Given the description of an element on the screen output the (x, y) to click on. 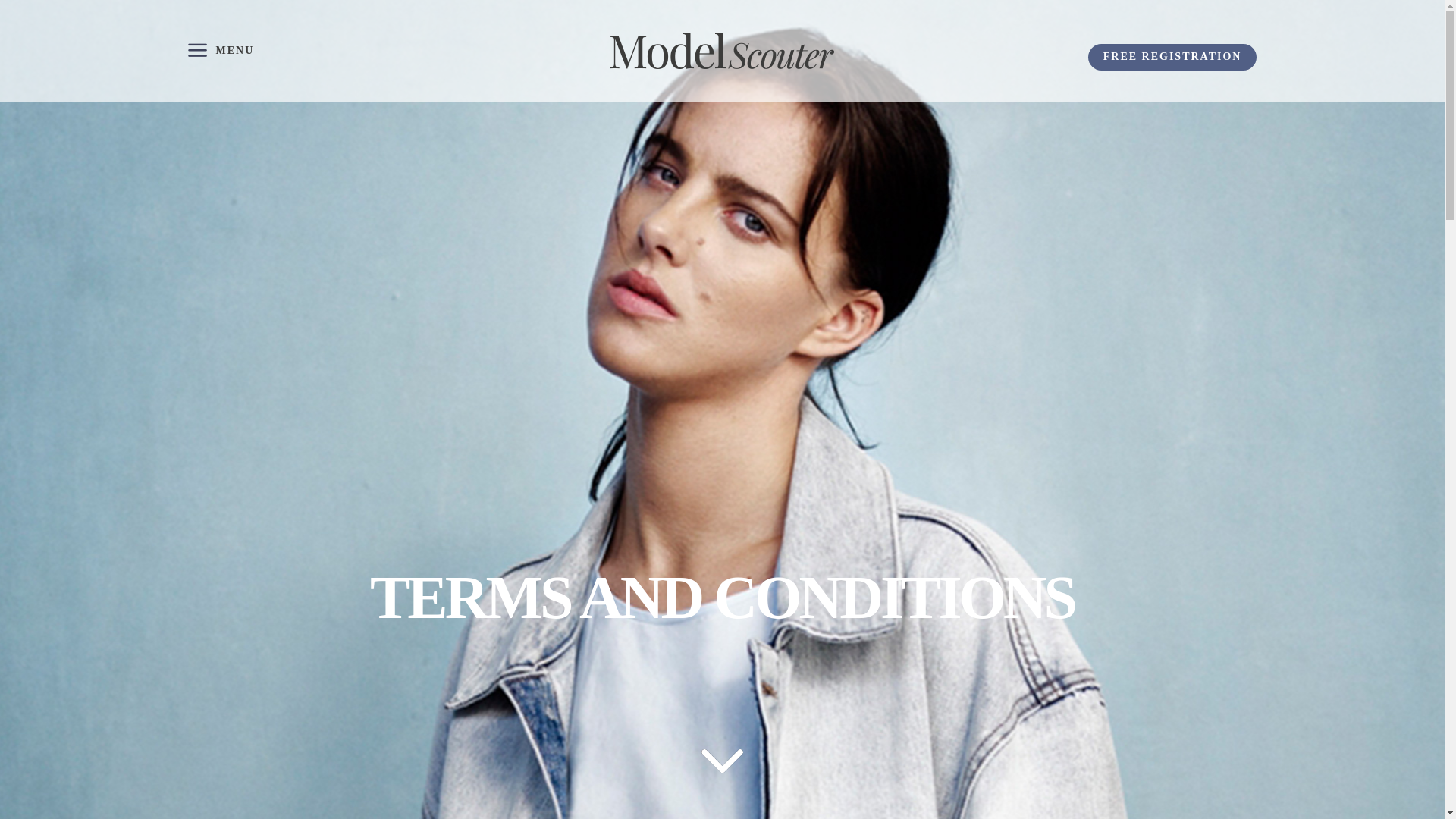
ADVICE (943, 585)
SERVICES (732, 585)
FREE REGISTRATION (1172, 57)
BECOME A MODEL (522, 585)
FAQ (1010, 585)
ABOUT US (640, 585)
MENU (220, 50)
CONTACT (1081, 585)
TESTIMONIALS (841, 585)
